Given the description of an element on the screen output the (x, y) to click on. 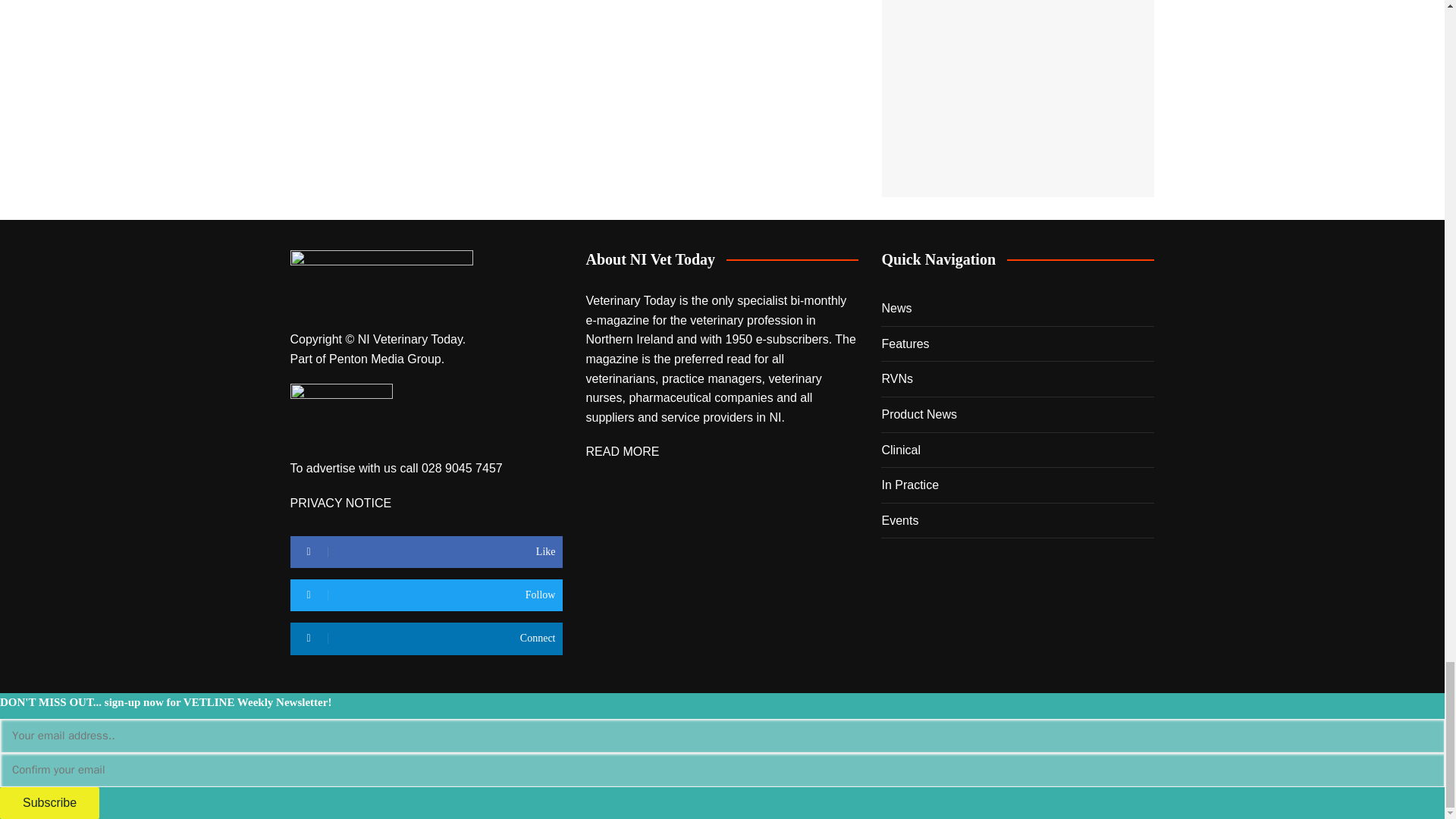
Events (1017, 98)
